Given the description of an element on the screen output the (x, y) to click on. 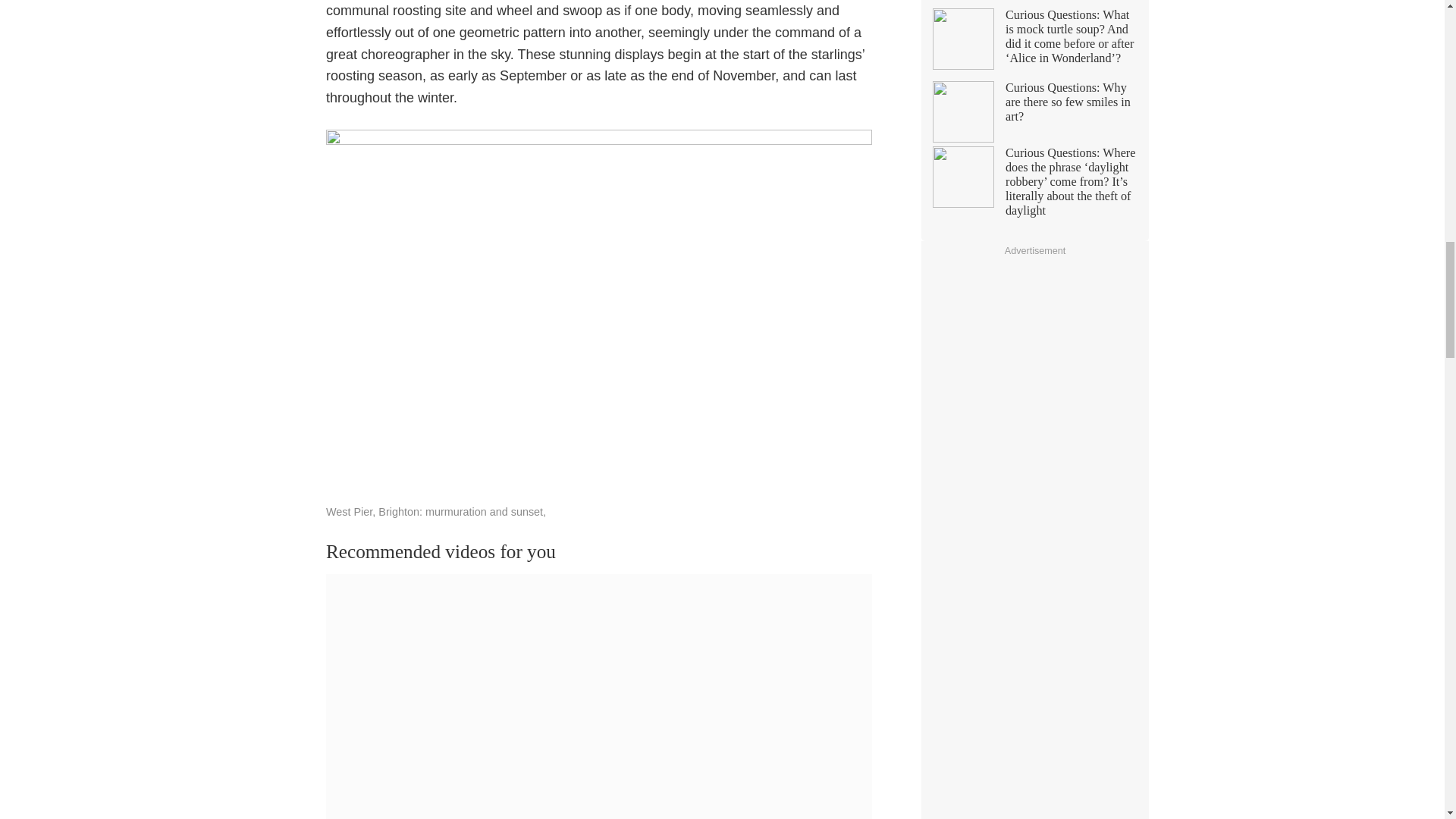
Curious Questions: Why are there so few smiles in art? (1035, 111)
